Given the description of an element on the screen output the (x, y) to click on. 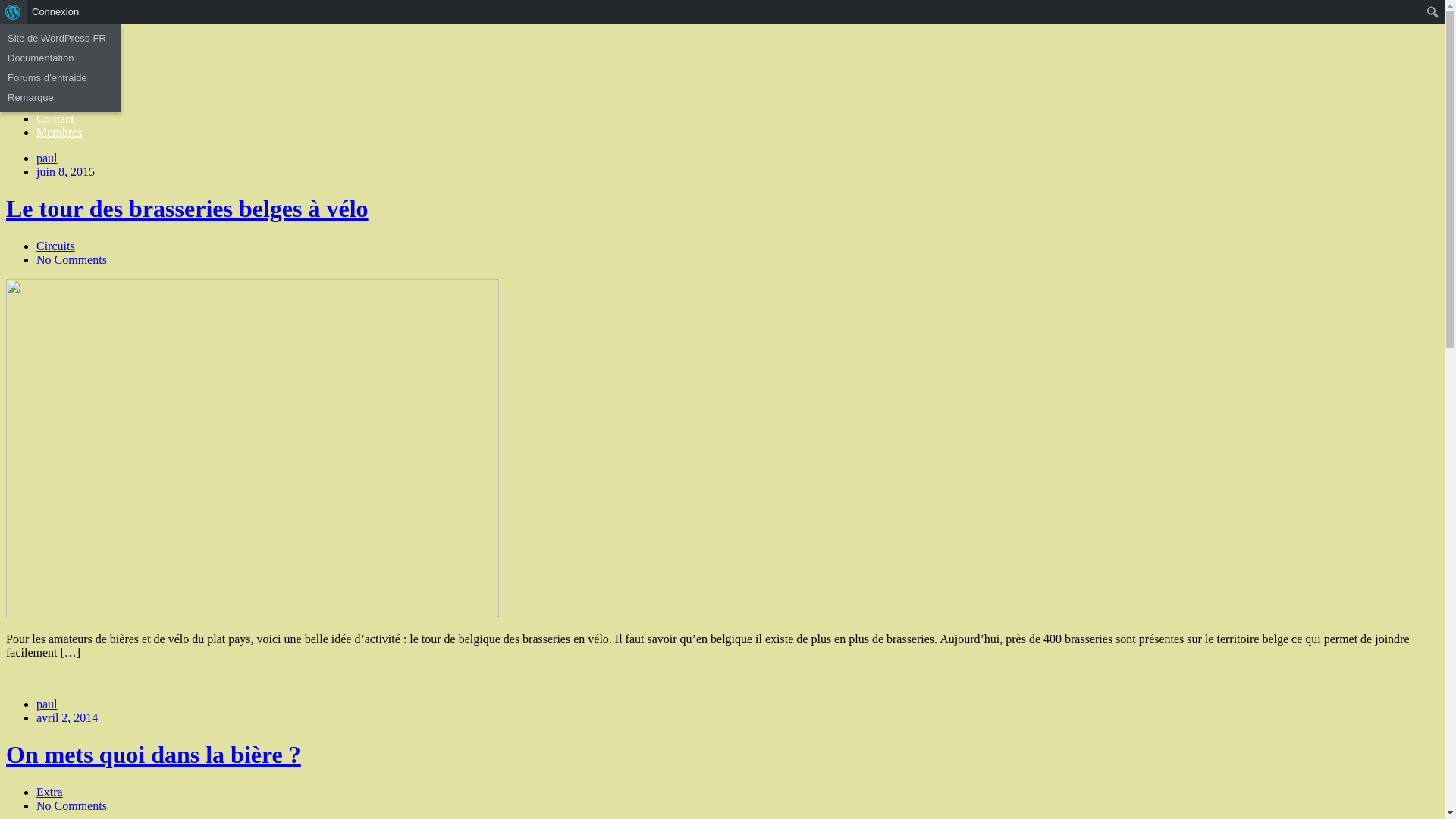
paul Element type: text (46, 157)
Site de WordPress-FR Element type: text (60, 38)
No Comments Element type: text (71, 805)
juin 8, 2015 Element type: text (65, 171)
paul Element type: text (46, 703)
Remarque Element type: text (60, 97)
Recherche Element type: text (25, 13)
No Comments Element type: text (71, 259)
Extra Element type: text (49, 791)
Documentation Element type: text (60, 58)
Contact Element type: text (55, 118)
Connexion Element type: text (55, 12)
Read More Element type: text (34, 678)
avril 2, 2014 Element type: text (66, 717)
Circuits Element type: text (55, 245)
Membres Element type: text (58, 131)
